Given the description of an element on the screen output the (x, y) to click on. 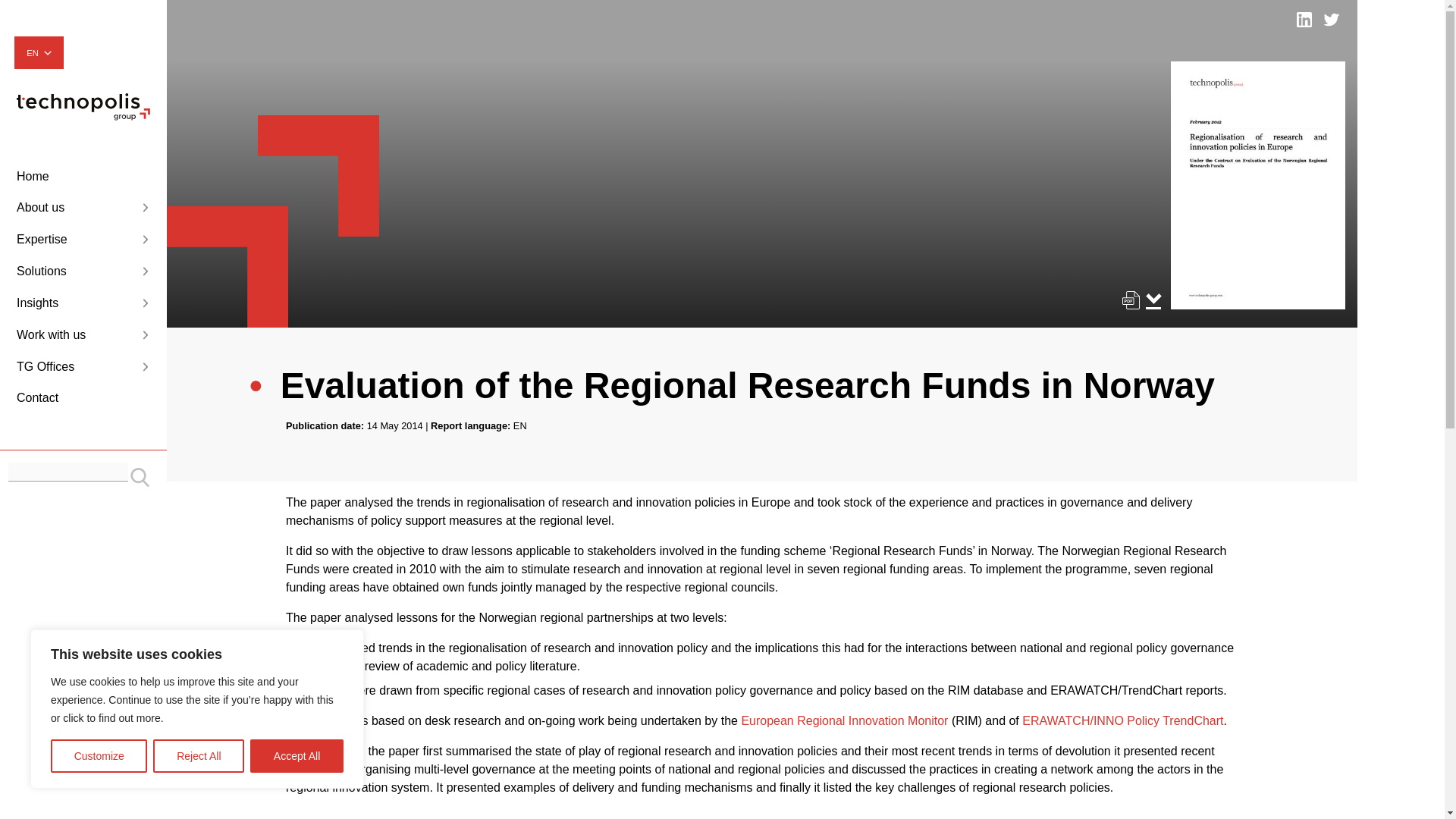
Expertise (82, 239)
EN (38, 53)
LinkedIn (1304, 19)
About us (82, 207)
Customize (98, 756)
Technopolis Group (82, 106)
EN (38, 53)
Reject All (198, 756)
Accept All (296, 756)
Twitter (1331, 19)
Solutions (82, 271)
Home (82, 176)
technopolis (82, 115)
